Given the description of an element on the screen output the (x, y) to click on. 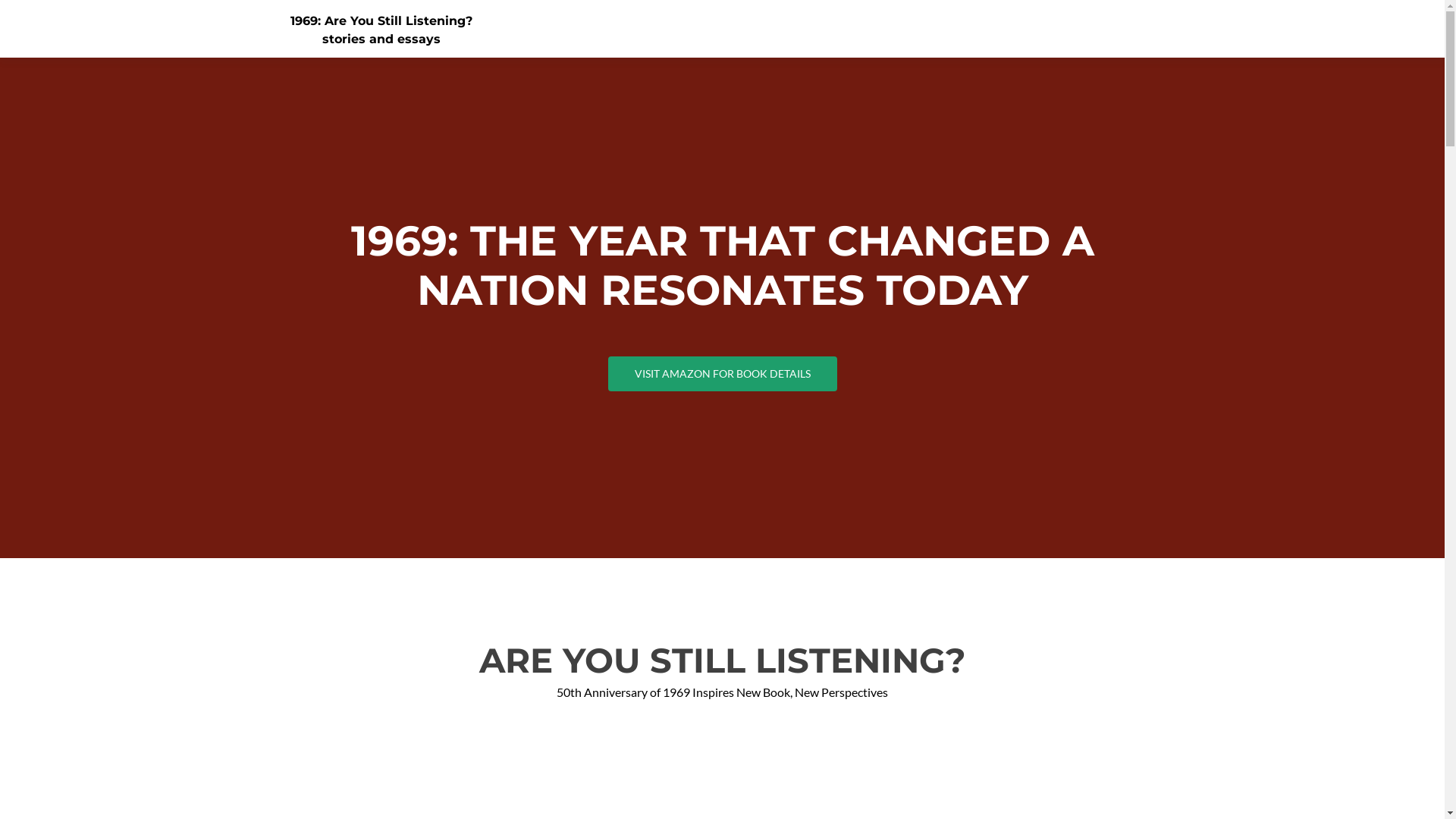
1969: Are You Still Listening? Element type: text (380, 20)
VISIT AMAZON FOR BOOK DETAILS Element type: text (722, 373)
Skip to content Element type: text (1182, 9)
